Given the description of an element on the screen output the (x, y) to click on. 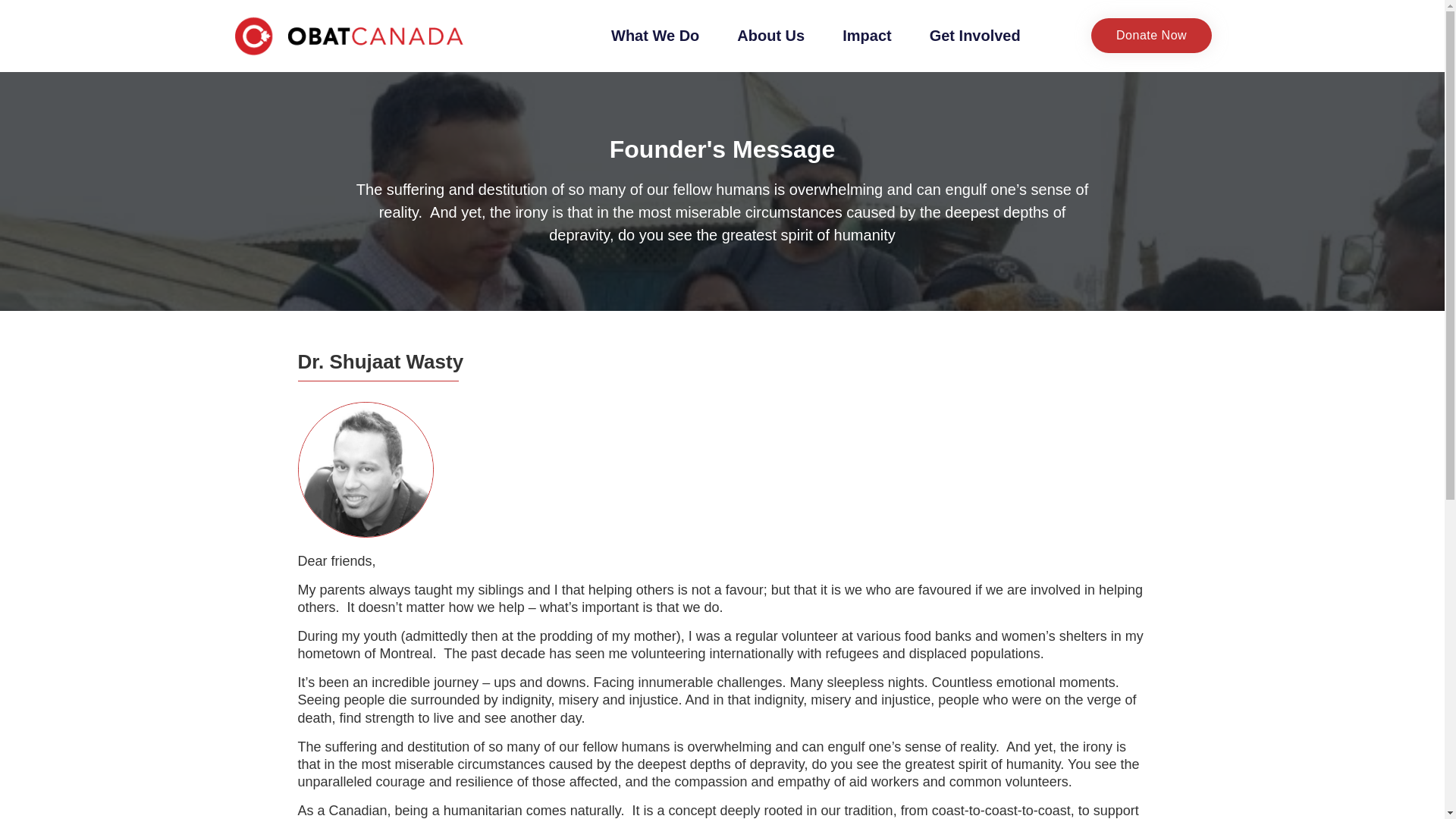
Get Involved (975, 35)
Impact (867, 35)
What We Do (654, 35)
About Us (770, 35)
